Given the description of an element on the screen output the (x, y) to click on. 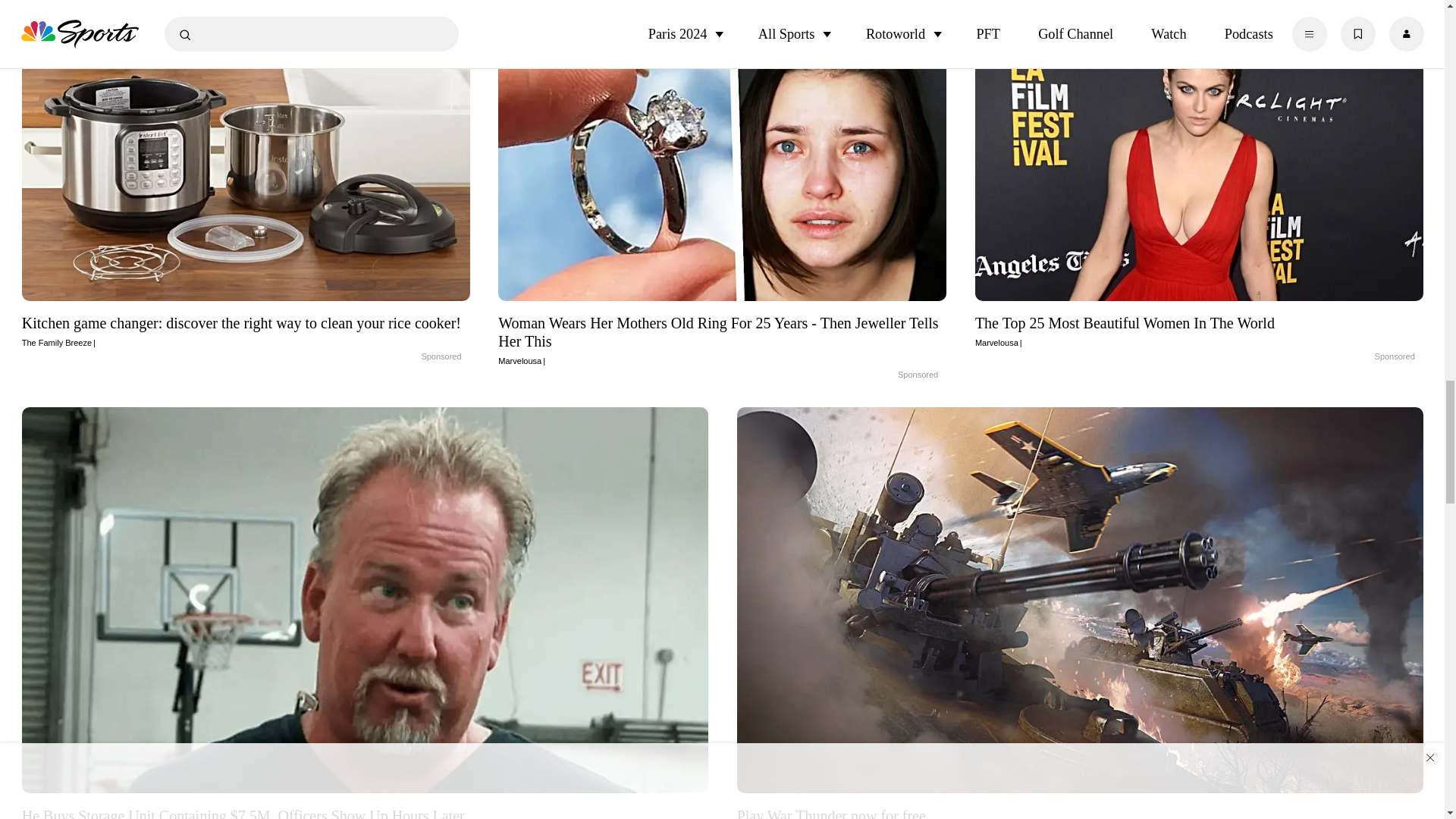
The Top 25 Most Beautiful Women In The World (1199, 174)
